Given the description of an element on the screen output the (x, y) to click on. 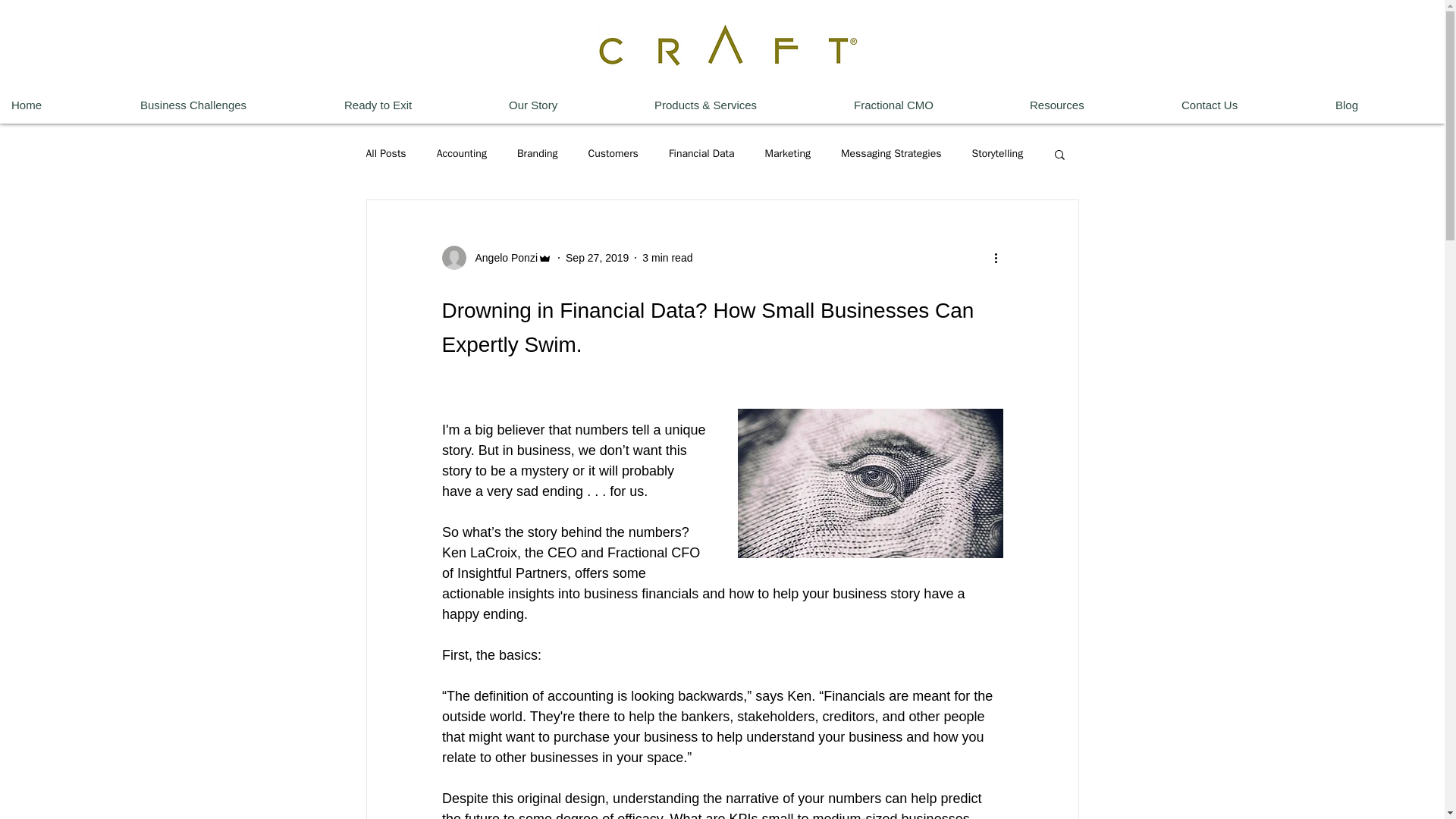
Branding (536, 153)
Ready to Exit (415, 104)
Our Story (570, 104)
Angelo Ponzi (501, 258)
All Posts (385, 153)
Messaging Strategies (891, 153)
3 min read (667, 257)
Customers (613, 153)
Storytelling (997, 153)
Home (64, 104)
